Given the description of an element on the screen output the (x, y) to click on. 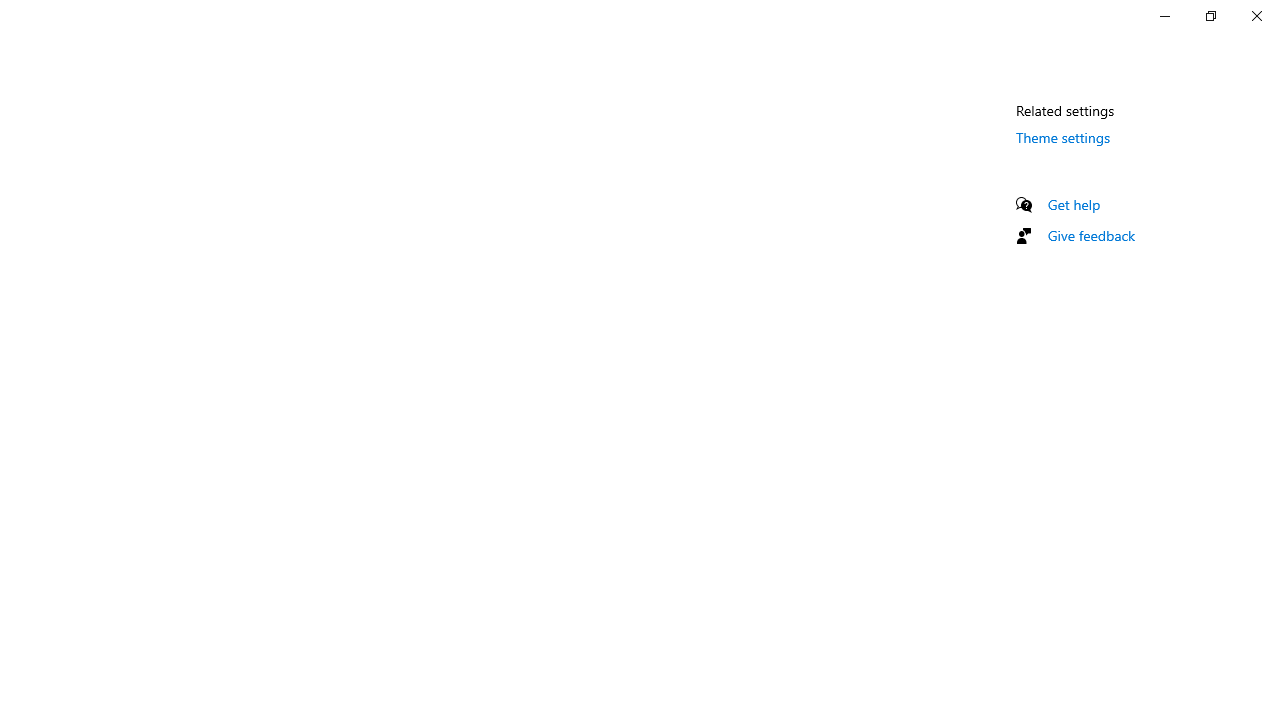
Close Settings (1256, 15)
Restore Settings (1210, 15)
Get help (1074, 204)
Theme settings (1063, 137)
Give feedback (1091, 235)
Minimize Settings (1164, 15)
